Given the description of an element on the screen output the (x, y) to click on. 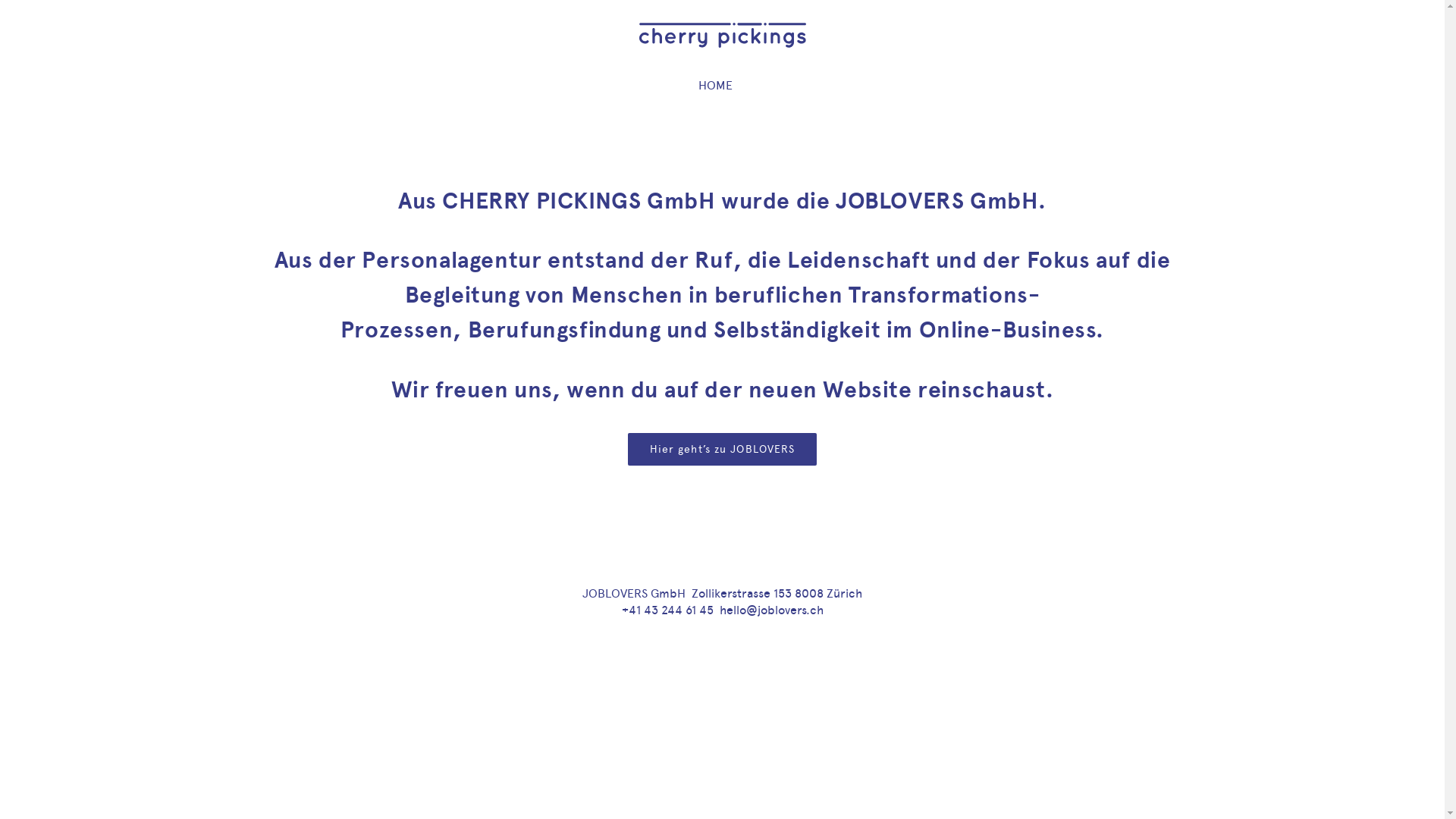
HOME Element type: text (715, 85)
hello@joblovers.ch Element type: text (770, 609)
